Given the description of an element on the screen output the (x, y) to click on. 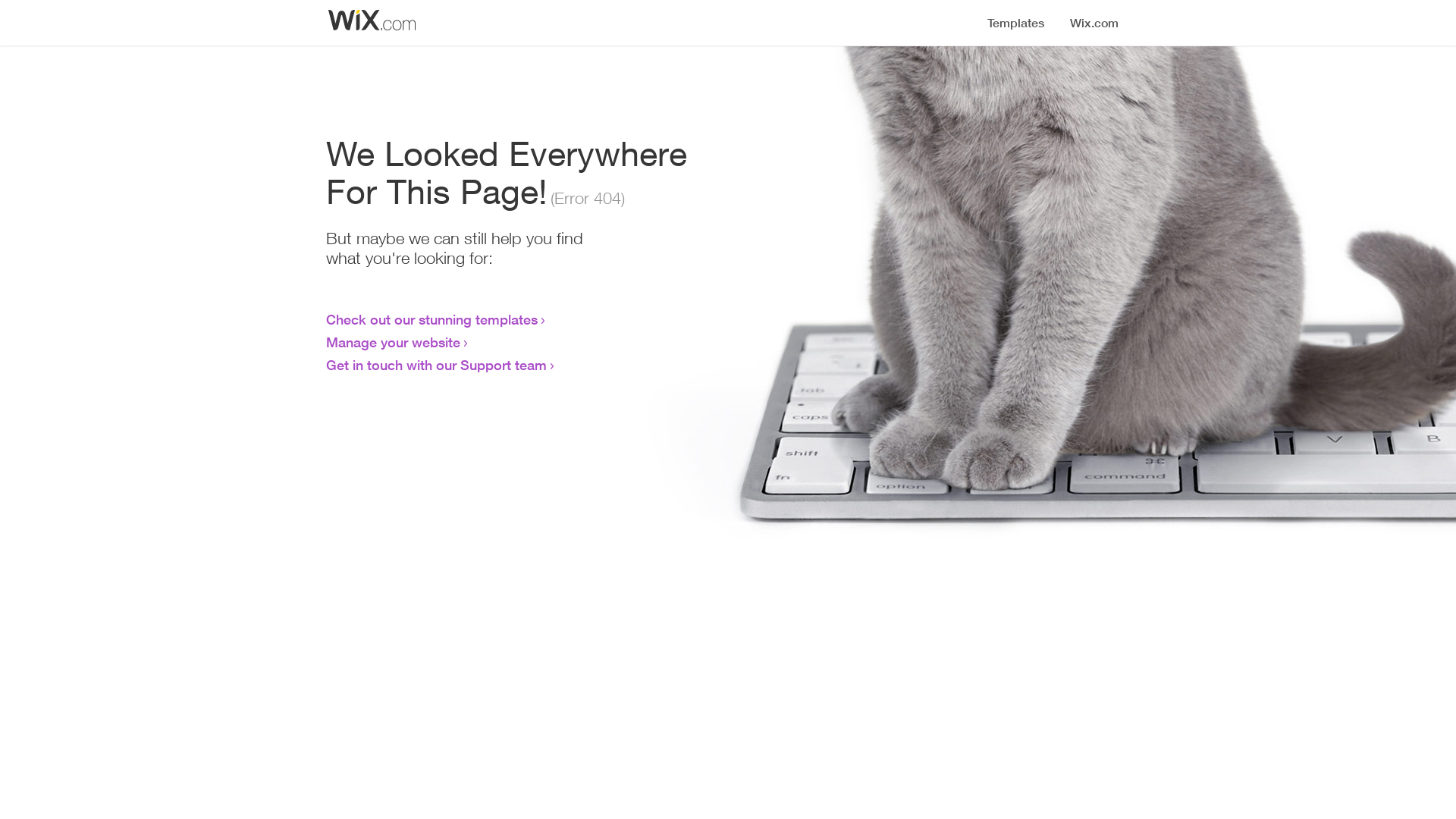
Get in touch with our Support team Element type: text (436, 364)
Check out our stunning templates Element type: text (431, 318)
Manage your website Element type: text (393, 341)
